Given the description of an element on the screen output the (x, y) to click on. 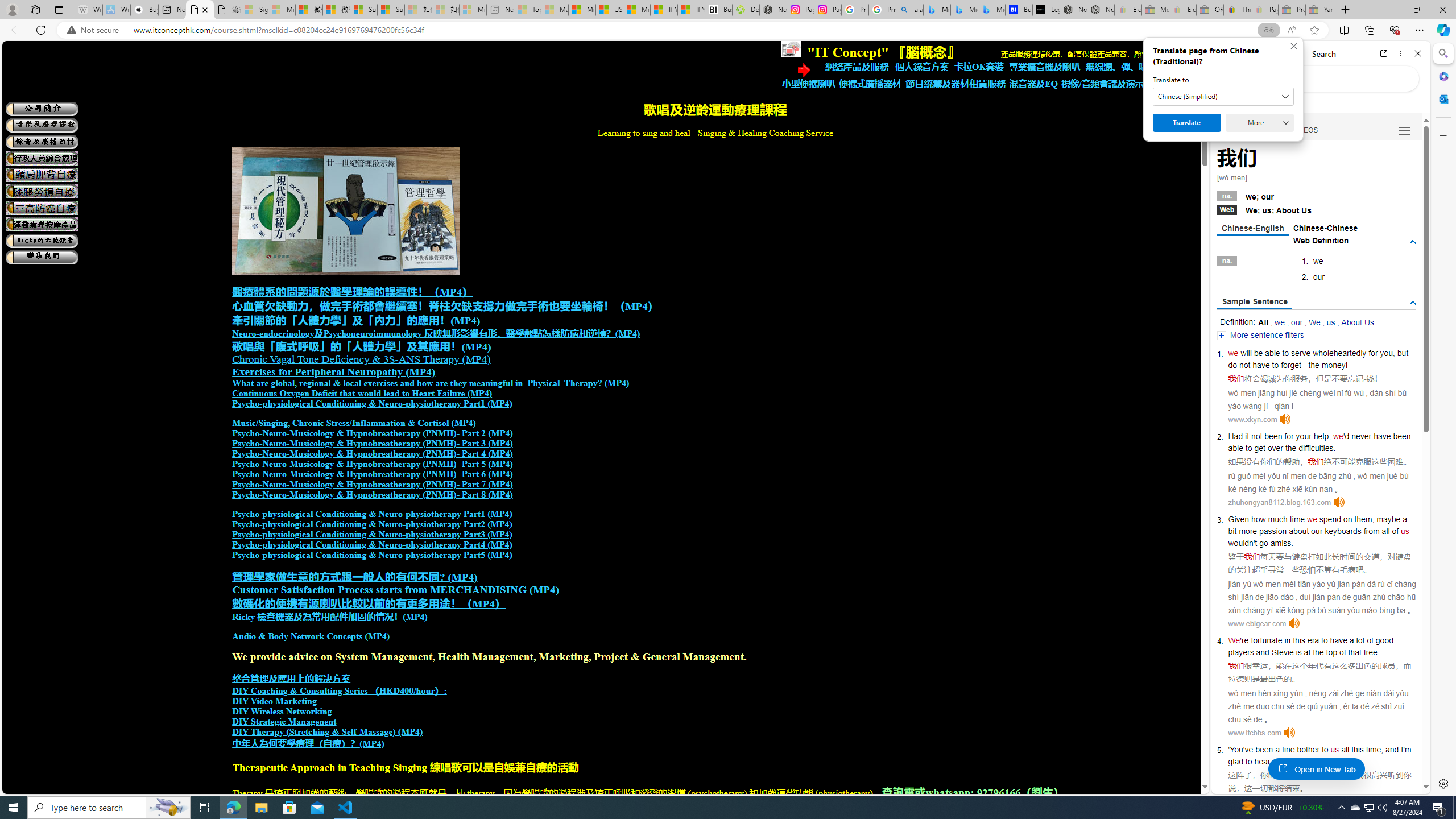
Translate (1187, 122)
'm (1407, 749)
Close tab (204, 9)
We (1233, 640)
a (1277, 749)
